Given the description of an element on the screen output the (x, y) to click on. 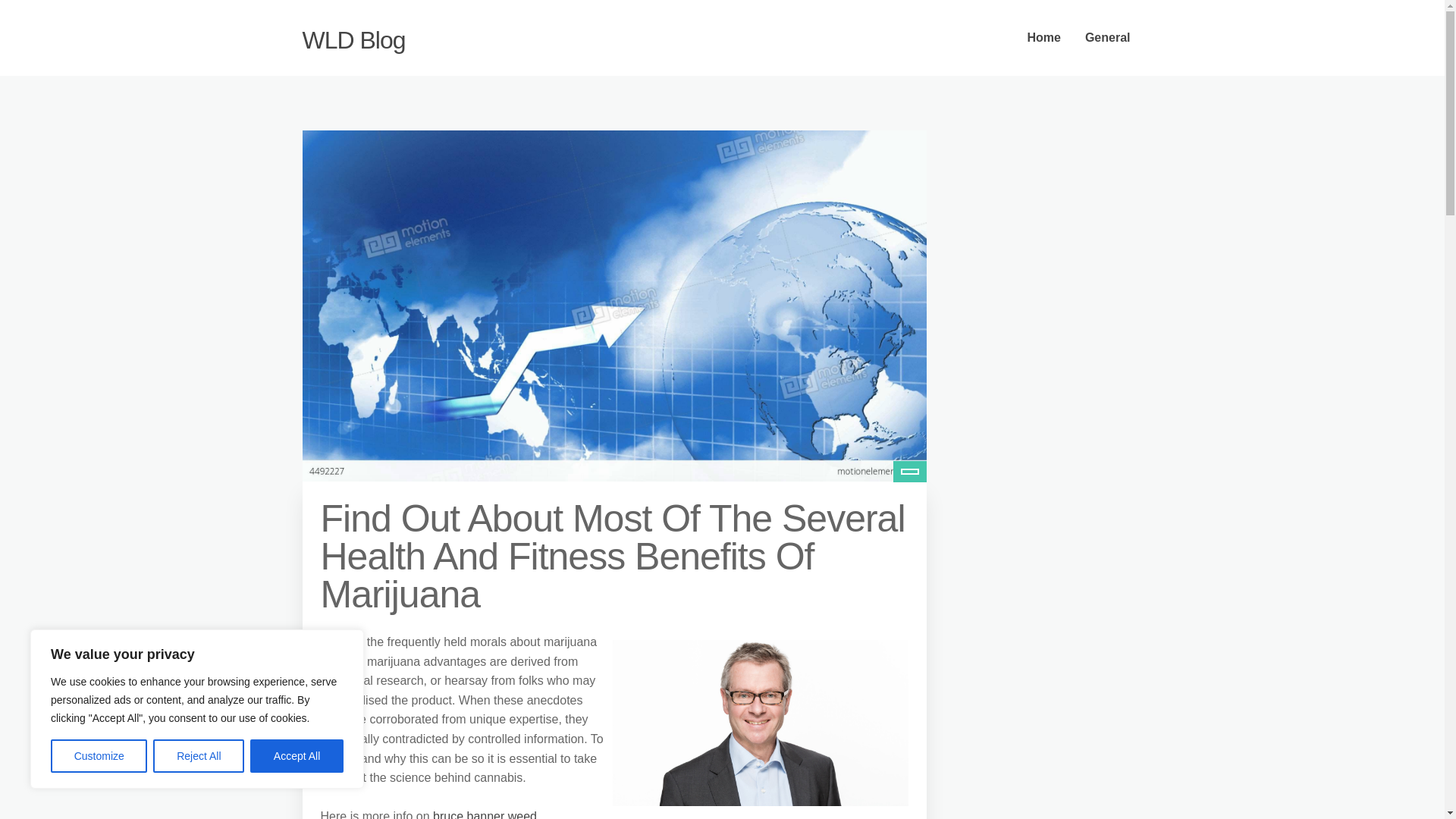
Reject All (198, 756)
Customize (98, 756)
General (1107, 37)
WLD Blog (352, 39)
Home (1042, 37)
Accept All (296, 756)
